Given the description of an element on the screen output the (x, y) to click on. 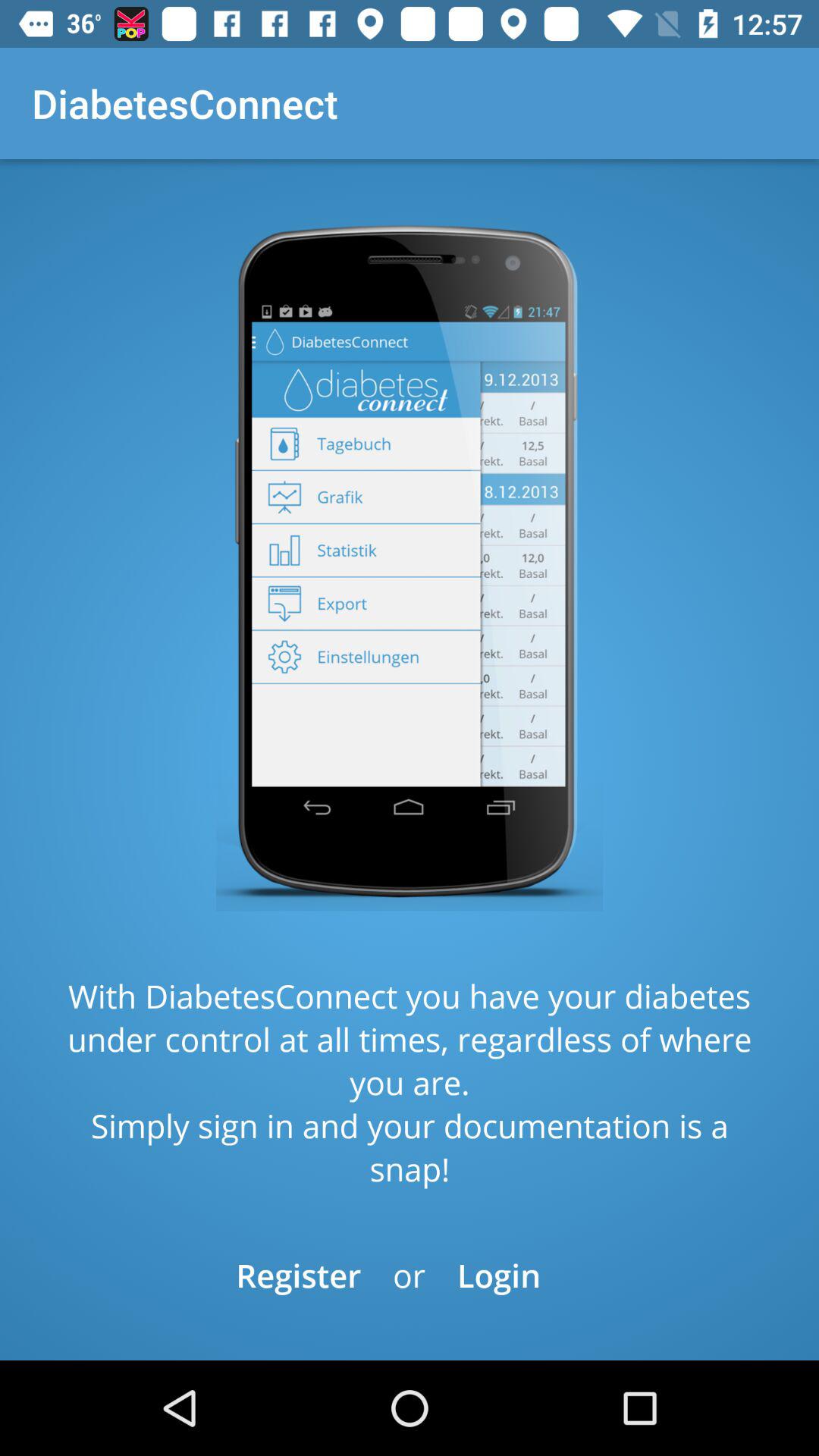
launch the icon to the left of the or icon (298, 1275)
